Given the description of an element on the screen output the (x, y) to click on. 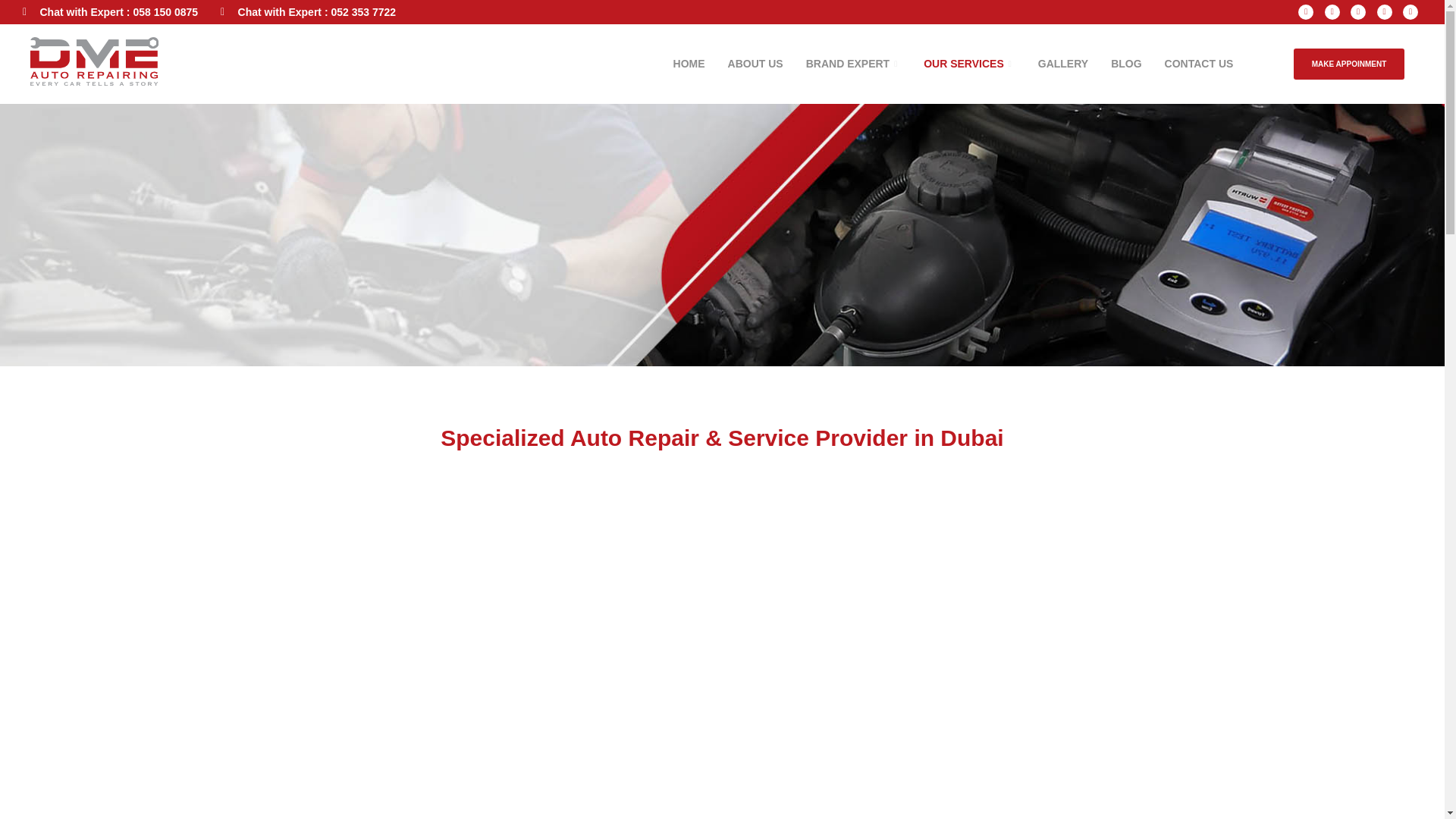
HOME (689, 64)
Chat with Expert : 058 150 0875 (110, 12)
BRAND EXPERT (853, 64)
Chat with Expert : 052 353 7722 (308, 12)
OUR SERVICES (969, 64)
ABOUT US (755, 64)
